Given the description of an element on the screen output the (x, y) to click on. 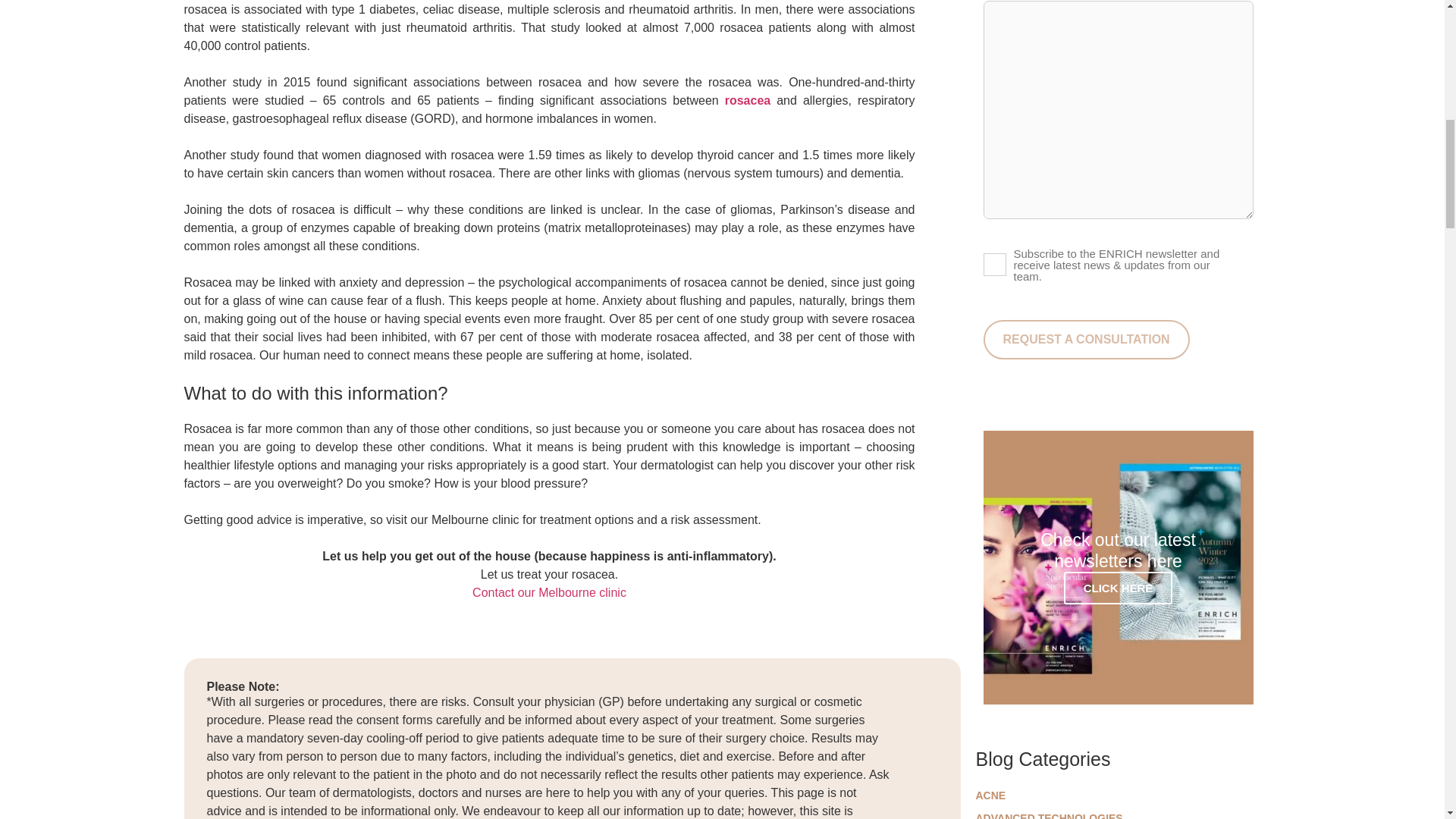
Request a consultation (1085, 339)
